Given the description of an element on the screen output the (x, y) to click on. 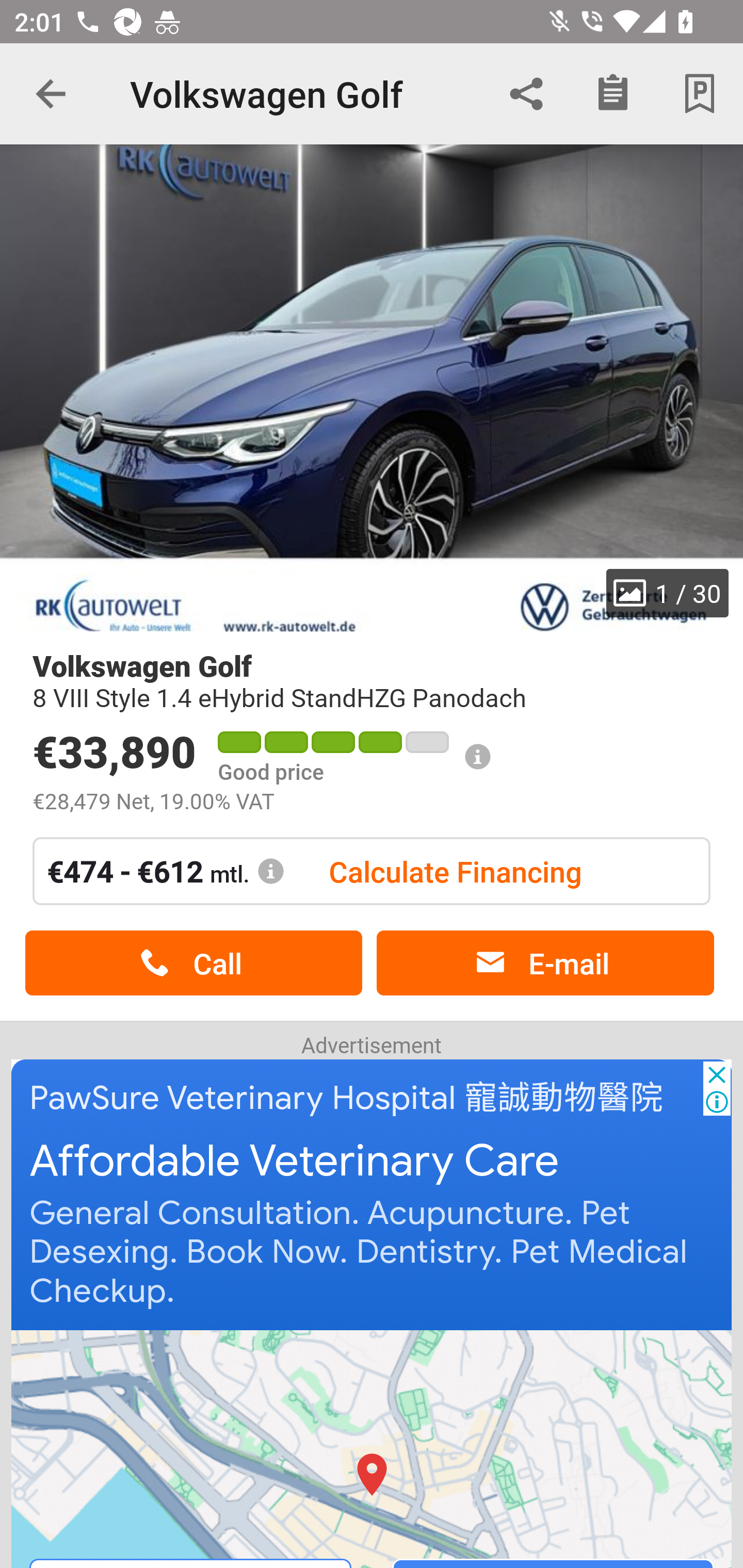
Navigate up (50, 93)
Share via (525, 93)
Checklist (612, 93)
Park (699, 93)
Calculate Financing (454, 870)
€474 - €612 mtl. (165, 870)
Call (193, 963)
E-mail (545, 963)
PawSure Veterinary Hospital 寵誠動物醫院 (346, 1097)
Affordable Veterinary Care (294, 1161)
Directions Call (372, 1448)
